Given the description of an element on the screen output the (x, y) to click on. 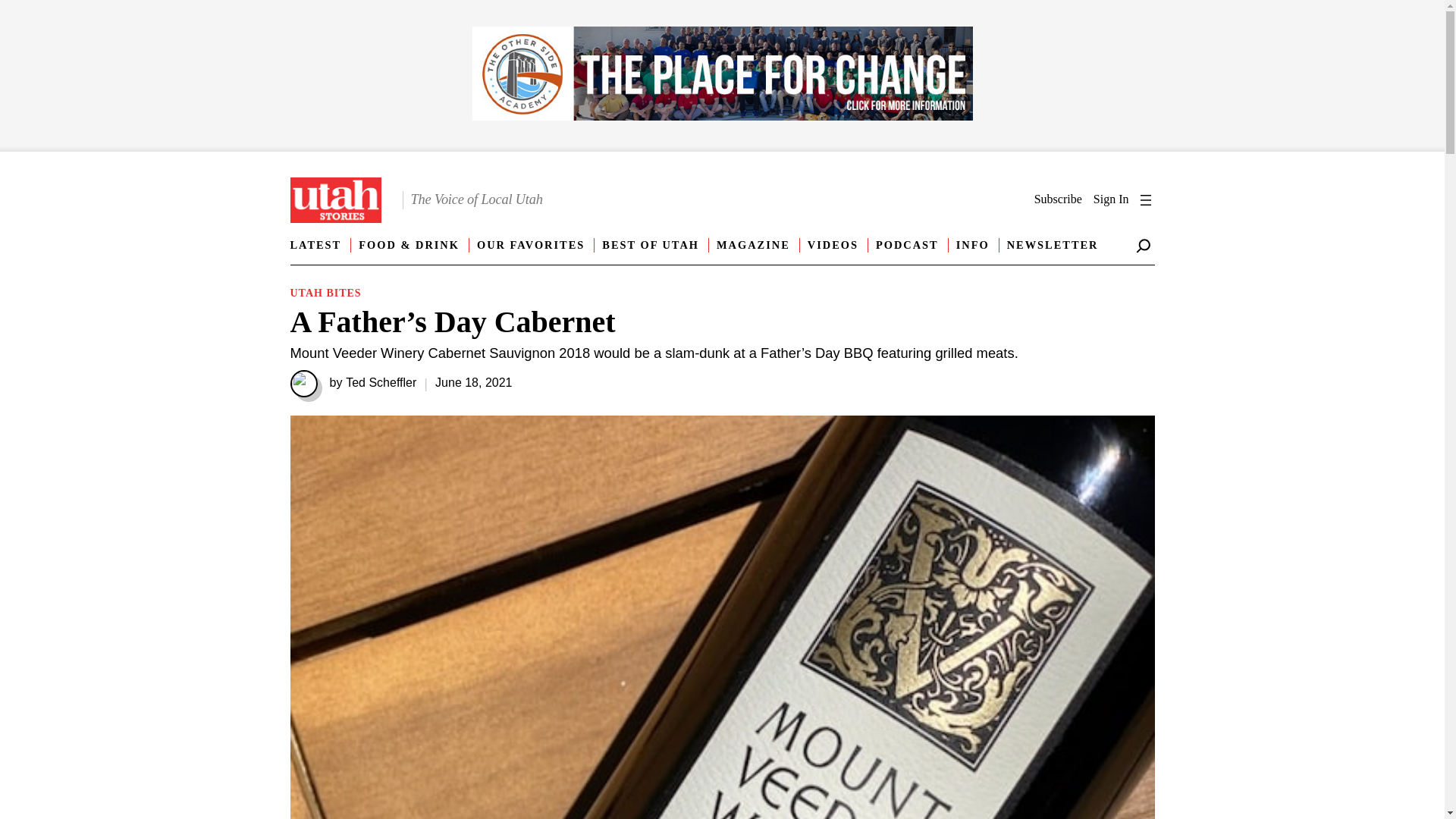
Subscribe (1057, 199)
Sign In (1111, 199)
banner display ad (721, 75)
